Given the description of an element on the screen output the (x, y) to click on. 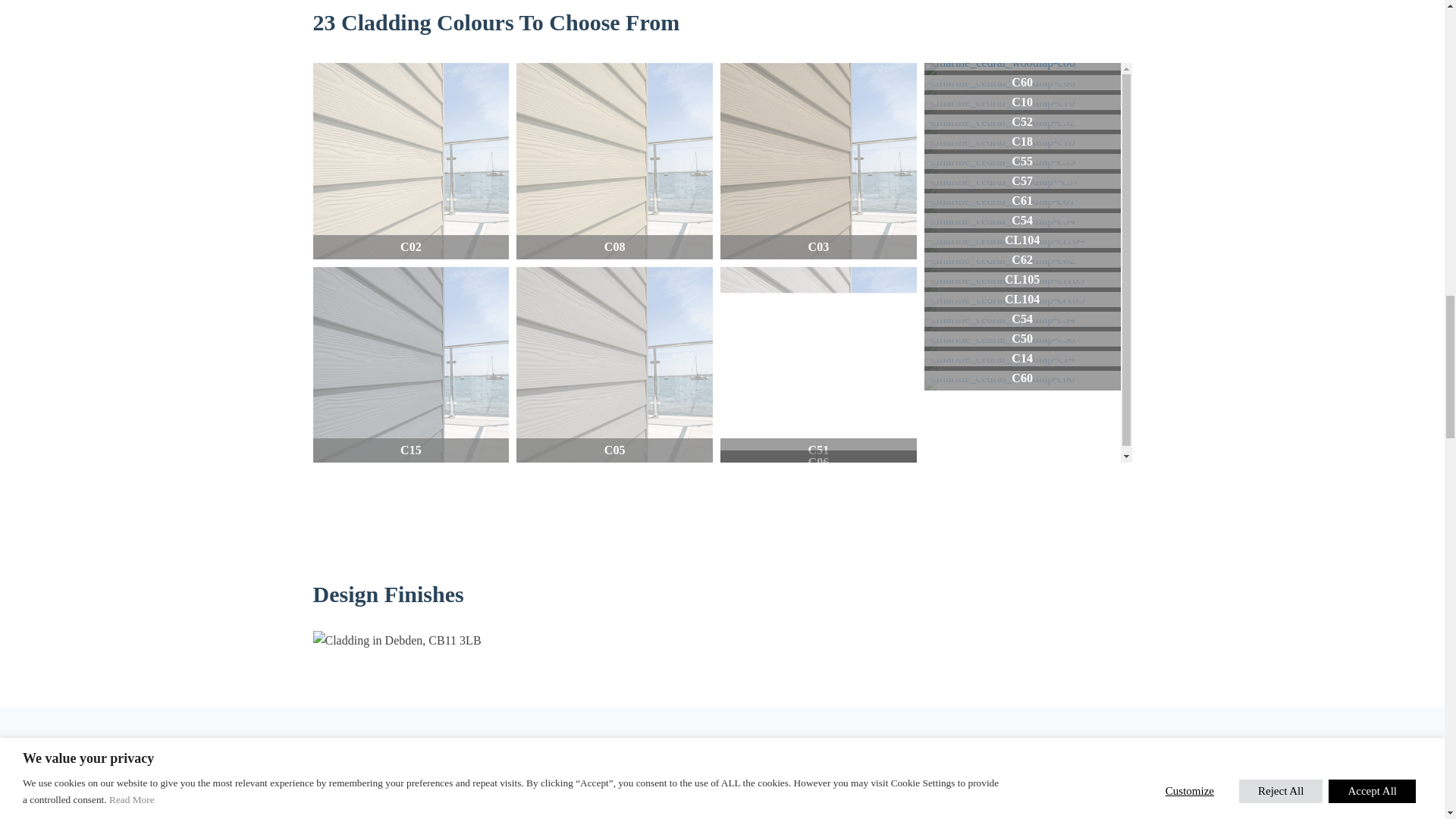
After (611, 789)
C61 (1022, 206)
C06 (1022, 69)
C15 (410, 364)
Before (421, 789)
C02 (410, 161)
C55 (1022, 167)
C51 (818, 364)
CL104 (1022, 246)
C05 (614, 364)
